Given the description of an element on the screen output the (x, y) to click on. 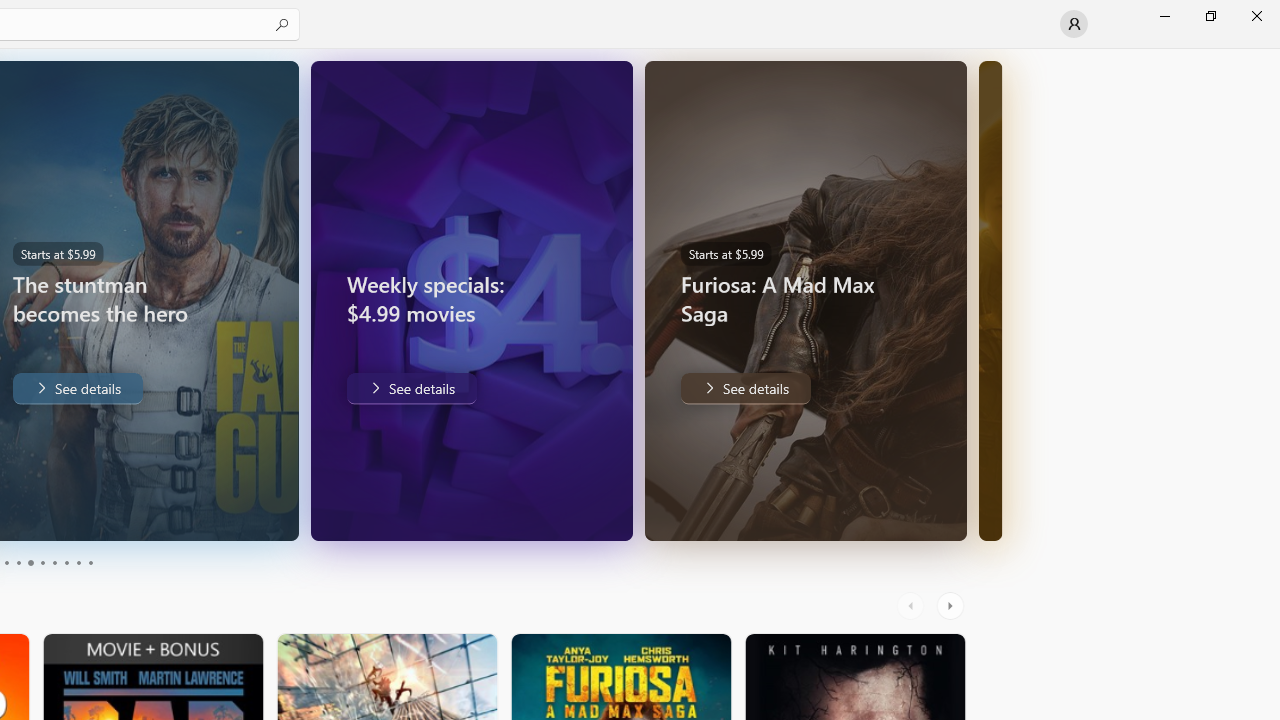
Minimize Microsoft Store (1164, 15)
AutomationID: RightScrollButton (952, 606)
User profile (1073, 24)
AutomationID: Image (997, 300)
Page 7 (54, 562)
Close Microsoft Store (1256, 15)
Restore Microsoft Store (1210, 15)
Page 5 (29, 562)
AutomationID: LeftScrollButton (913, 606)
Page 3 (5, 562)
Page 9 (77, 562)
Page 6 (41, 562)
